Given the description of an element on the screen output the (x, y) to click on. 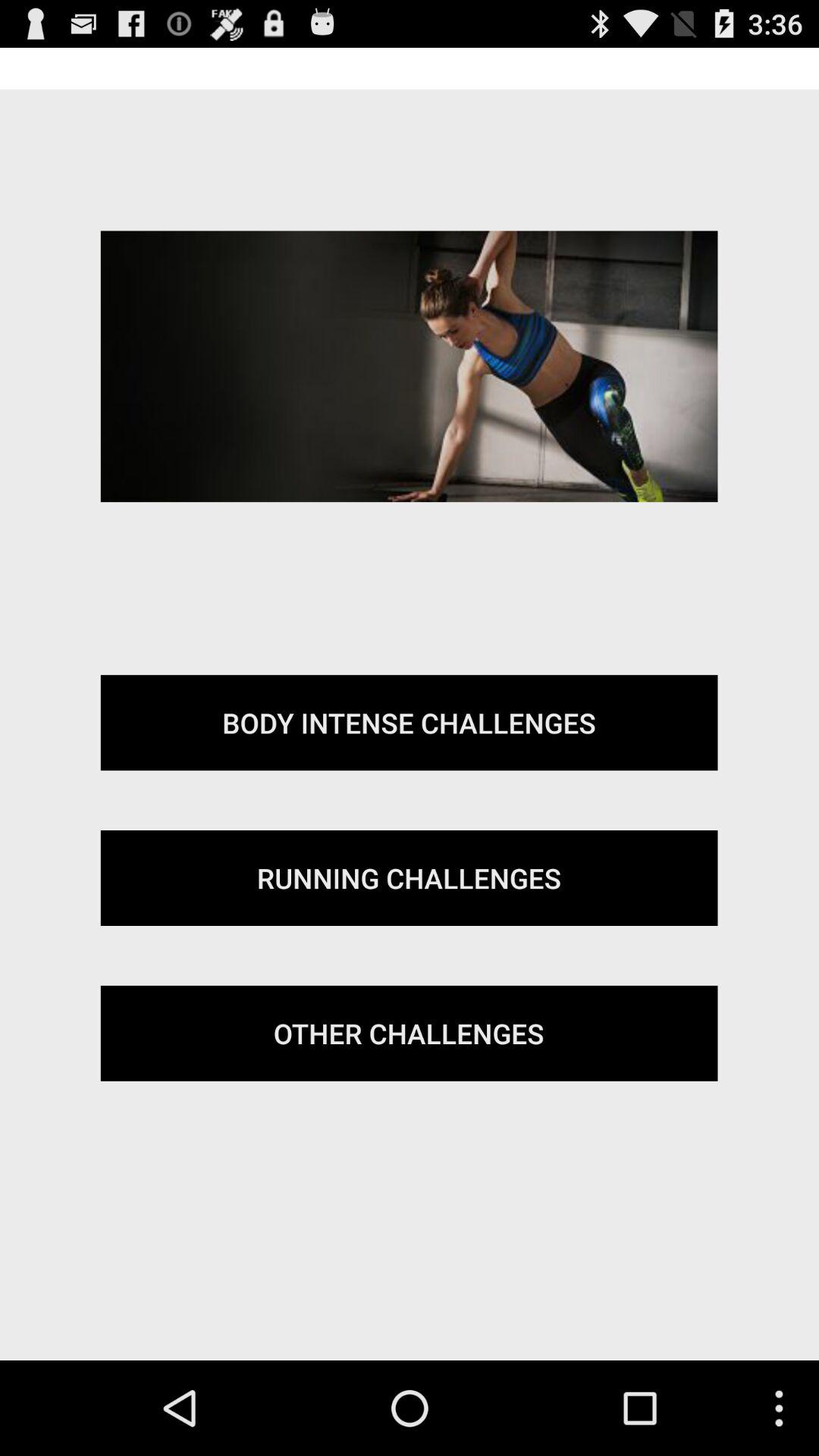
turn on the item above the other challenges icon (408, 877)
